Given the description of an element on the screen output the (x, y) to click on. 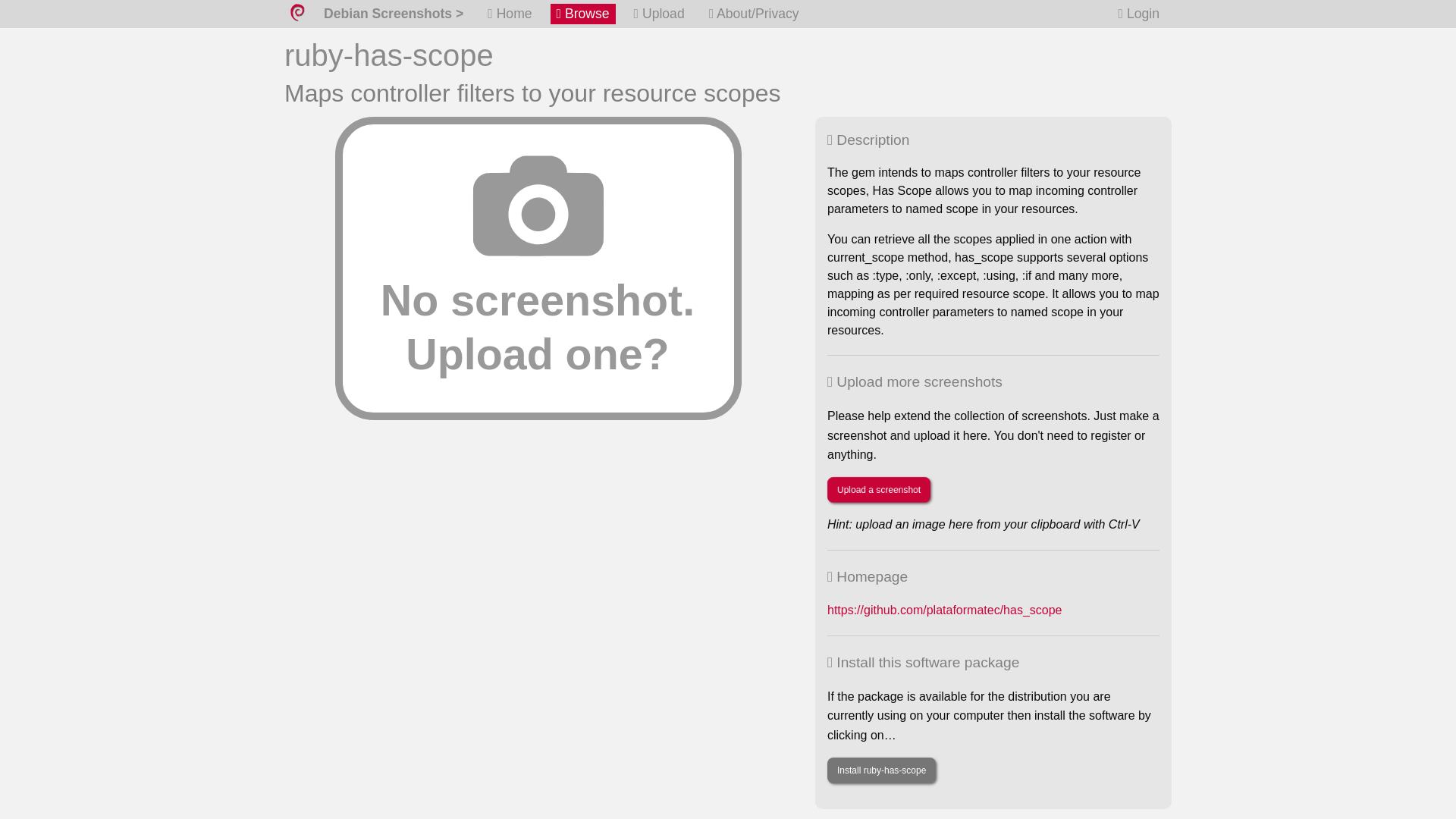
Login (1139, 14)
Install ruby-has-scope (881, 769)
Home (509, 14)
Upload a screenshot (878, 489)
Upload (658, 14)
Browse (582, 14)
